Given the description of an element on the screen output the (x, y) to click on. 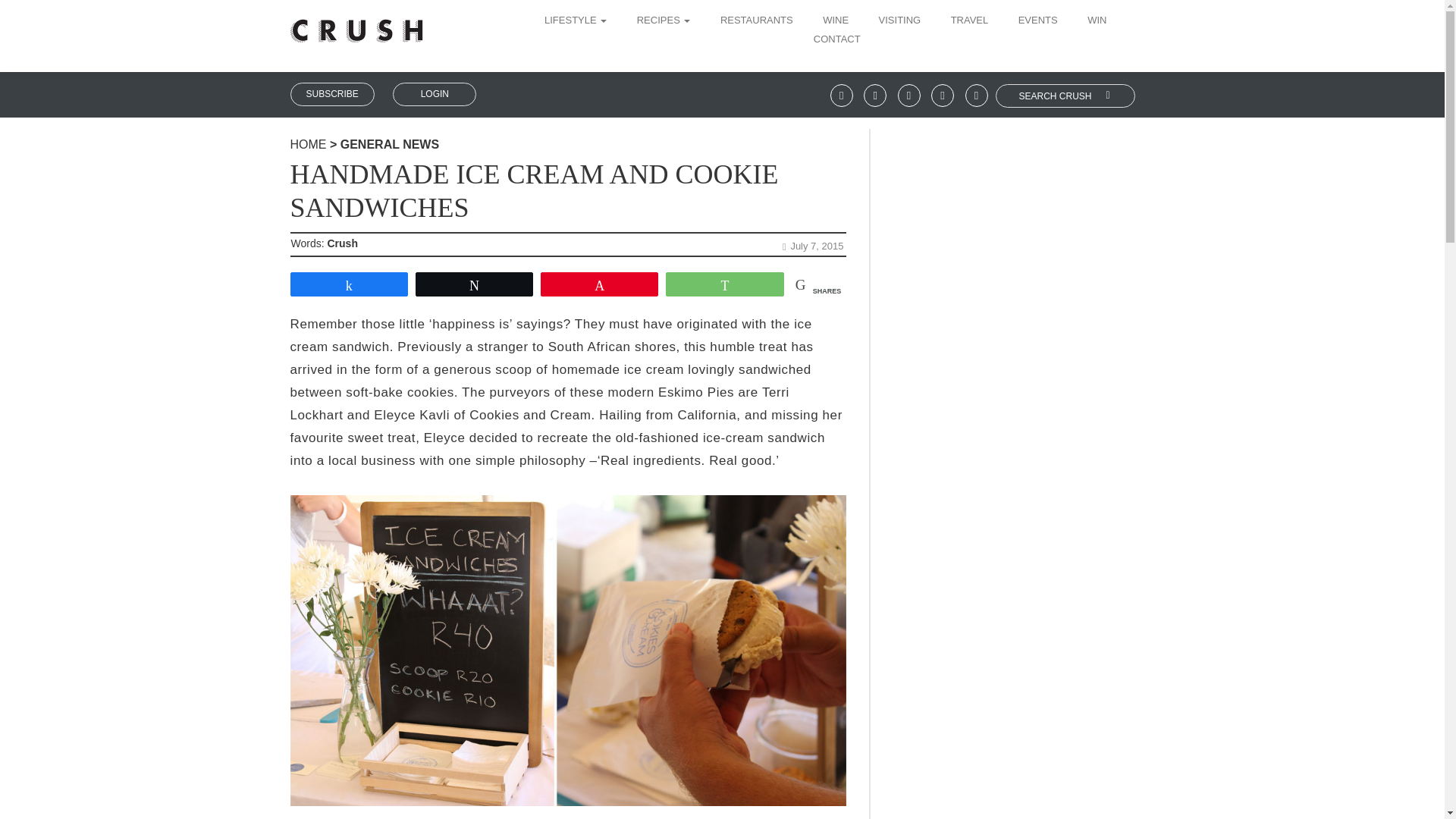
WIN (1096, 21)
Crush Magazine (307, 144)
EVENTS (1037, 21)
CONTACT (831, 40)
LIFESTYLE (580, 21)
VISITING (900, 21)
WINE (835, 21)
Crush Mag Online (355, 24)
RECIPES (663, 21)
RESTAURANTS (757, 21)
